Given the description of an element on the screen output the (x, y) to click on. 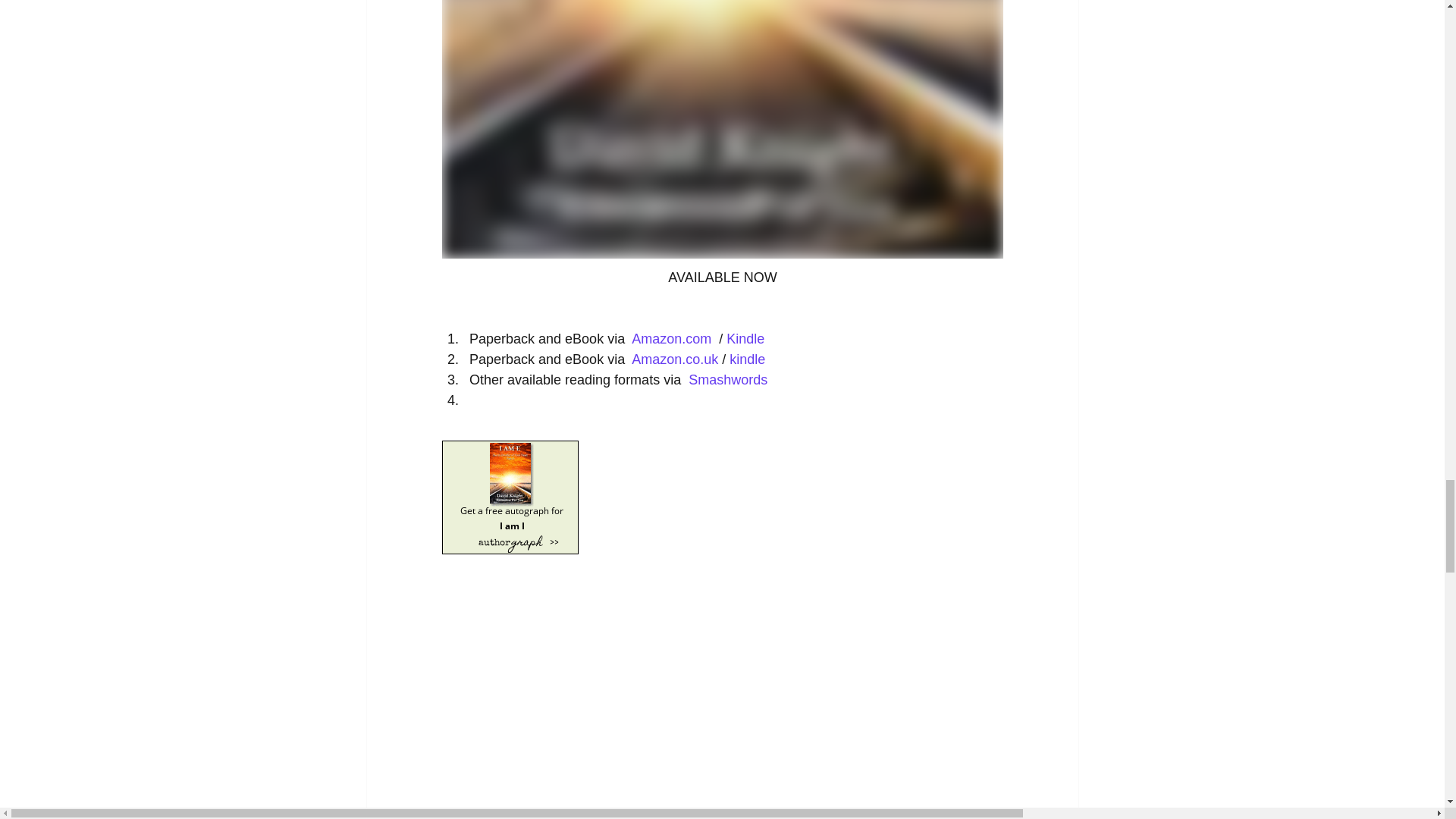
Kindle (745, 338)
kindle (747, 359)
Amazon.co.uk (674, 359)
Smashwords  (729, 379)
Amazon.com (671, 338)
